Given the description of an element on the screen output the (x, y) to click on. 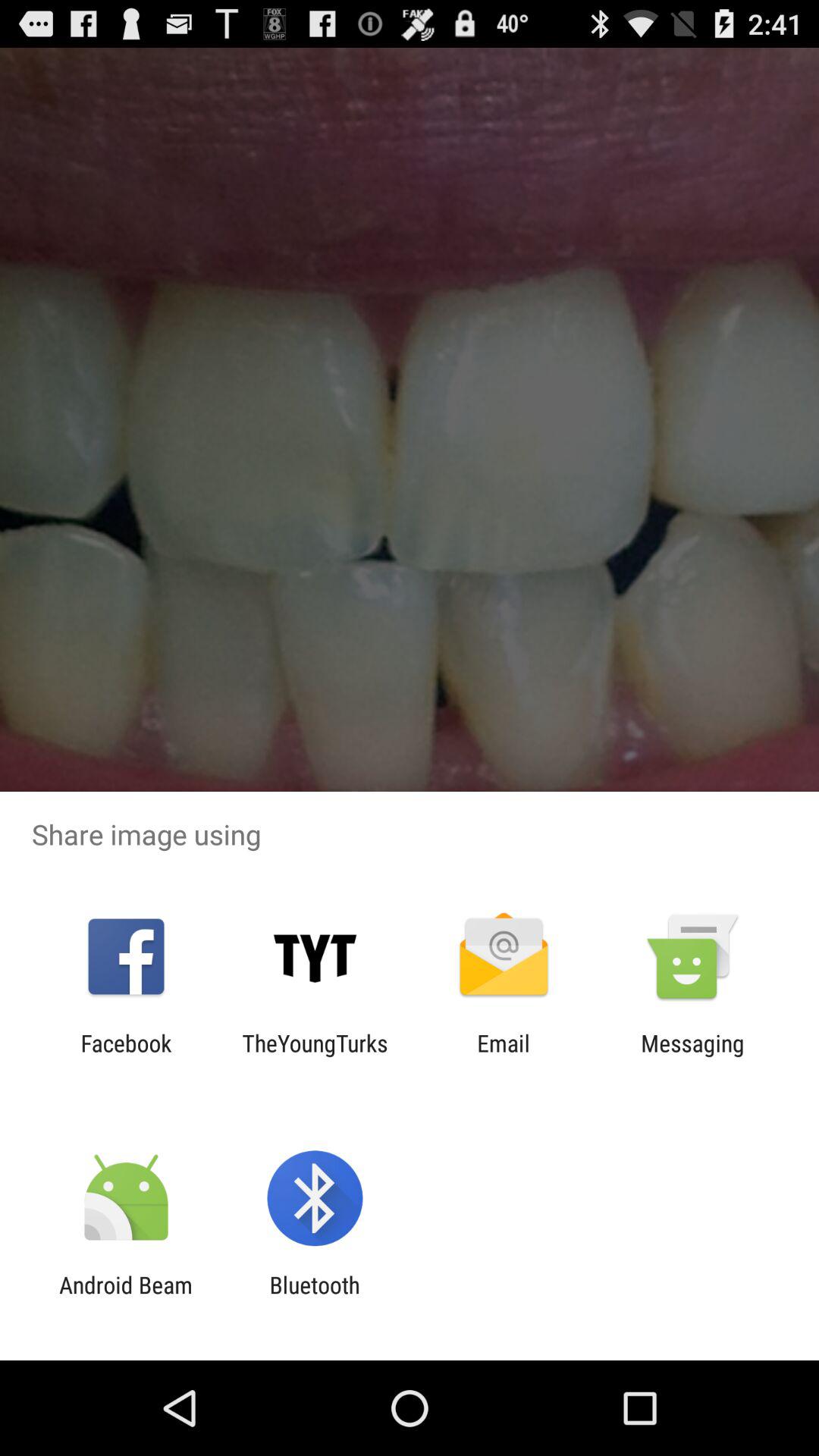
scroll until android beam icon (125, 1298)
